Given the description of an element on the screen output the (x, y) to click on. 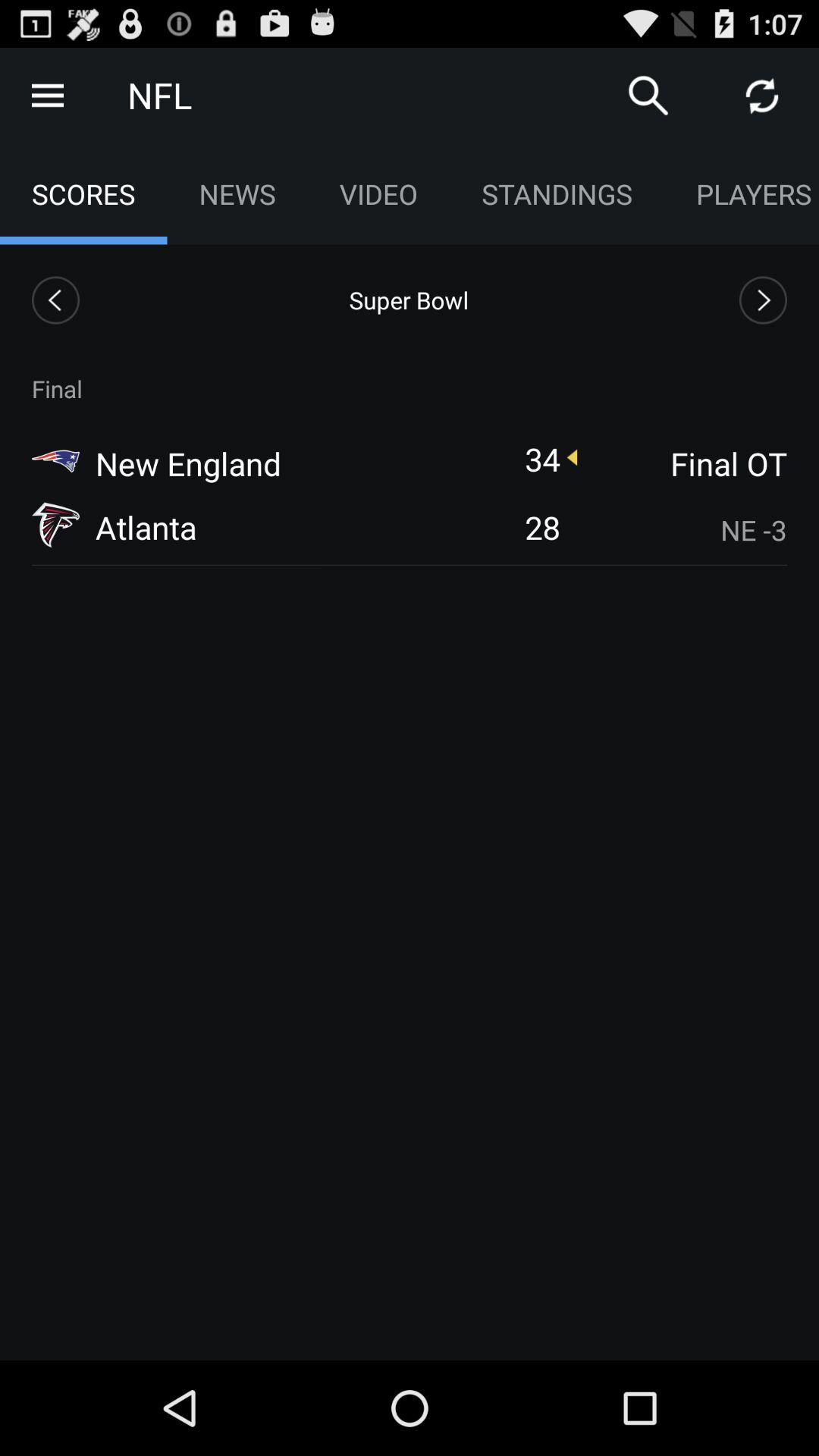
turn on app to the right of standings (741, 193)
